Given the description of an element on the screen output the (x, y) to click on. 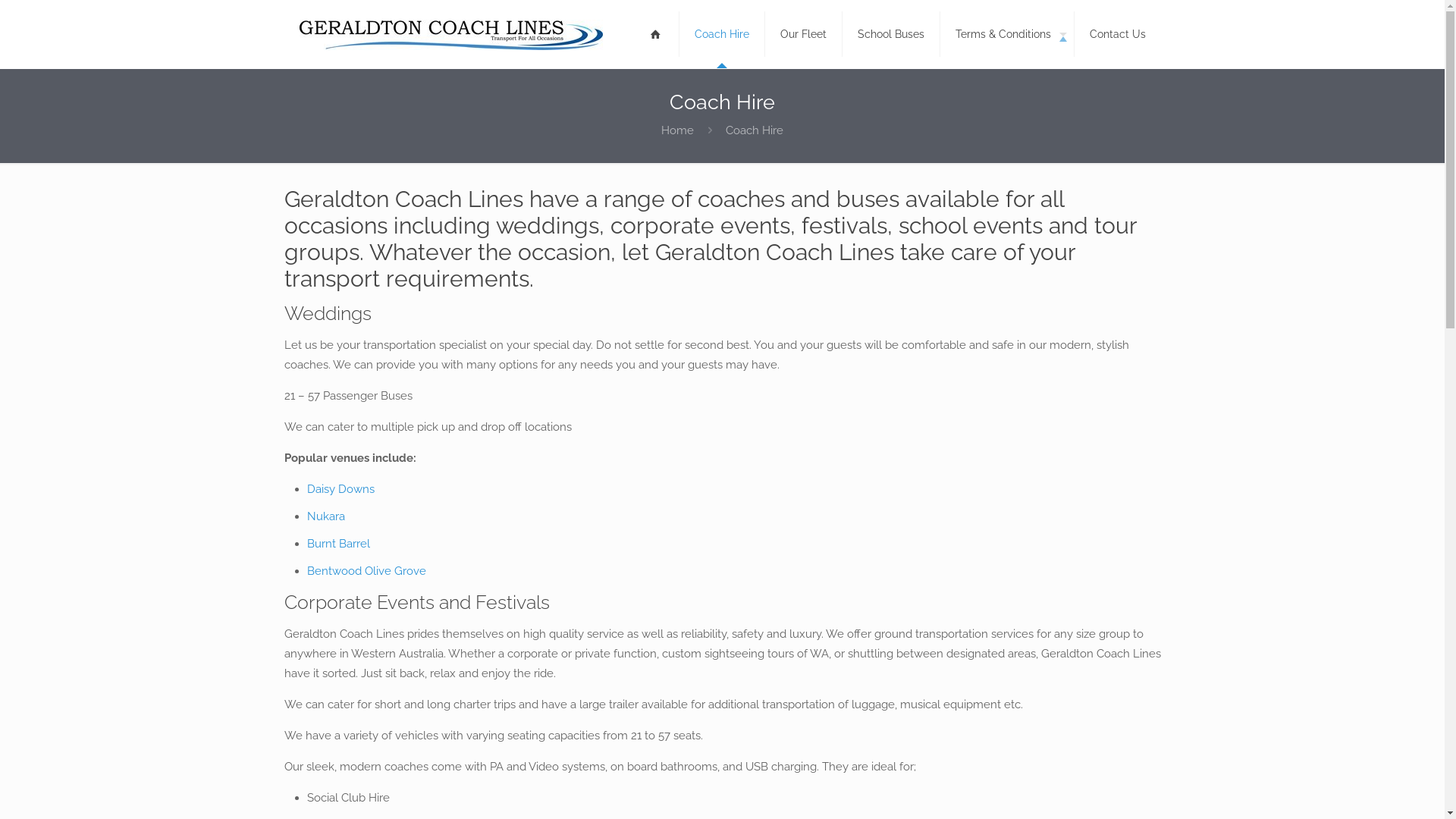
Home Element type: text (677, 130)
Coach Hire Element type: text (722, 34)
Terms & Conditions Element type: text (1007, 34)
Burnt Barrel Element type: text (337, 543)
Daisy Downs Element type: text (339, 488)
Our Fleet Element type: text (802, 34)
Nukara Element type: text (325, 516)
Geraldton Coach Lines Element type: hover (450, 34)
School Buses Element type: text (890, 34)
Bentwood Olive Grove  Element type: text (367, 570)
Contact Us Element type: text (1116, 34)
